Given the description of an element on the screen output the (x, y) to click on. 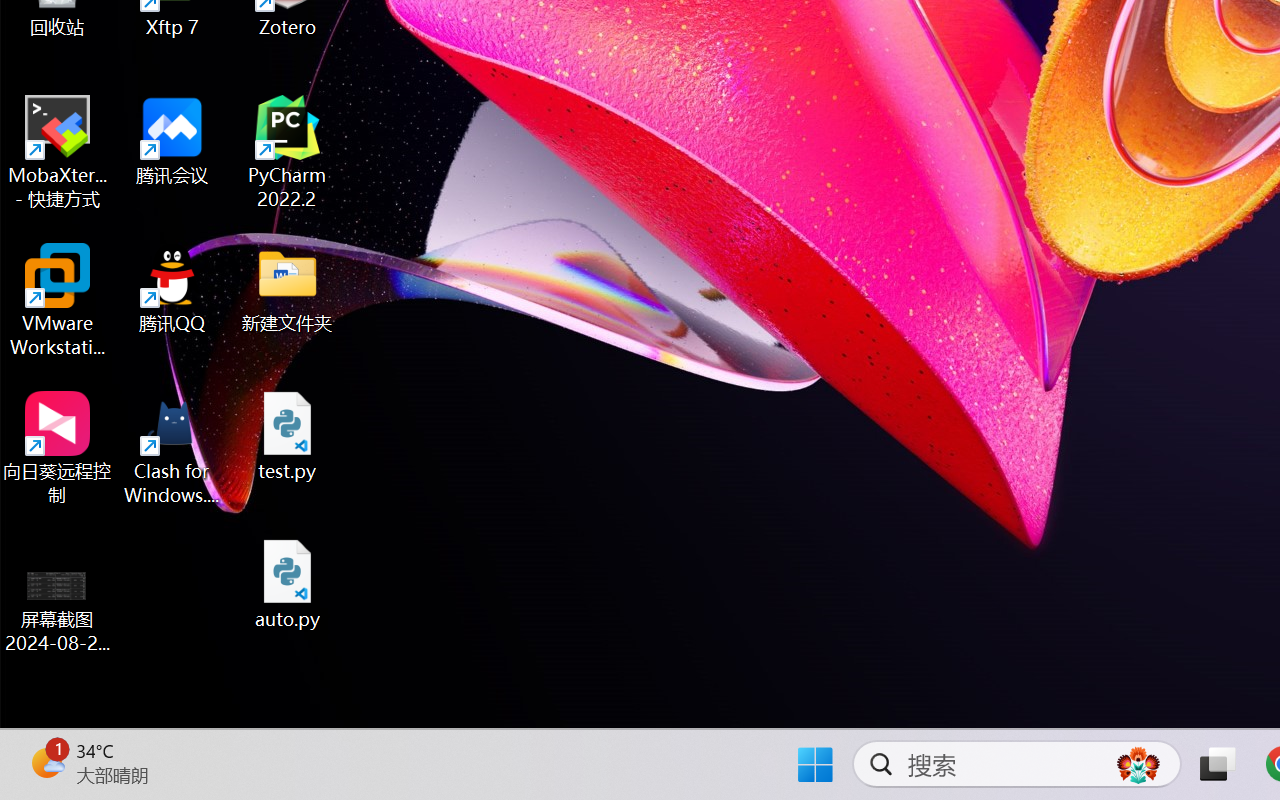
VMware Workstation Pro (57, 300)
